Given the description of an element on the screen output the (x, y) to click on. 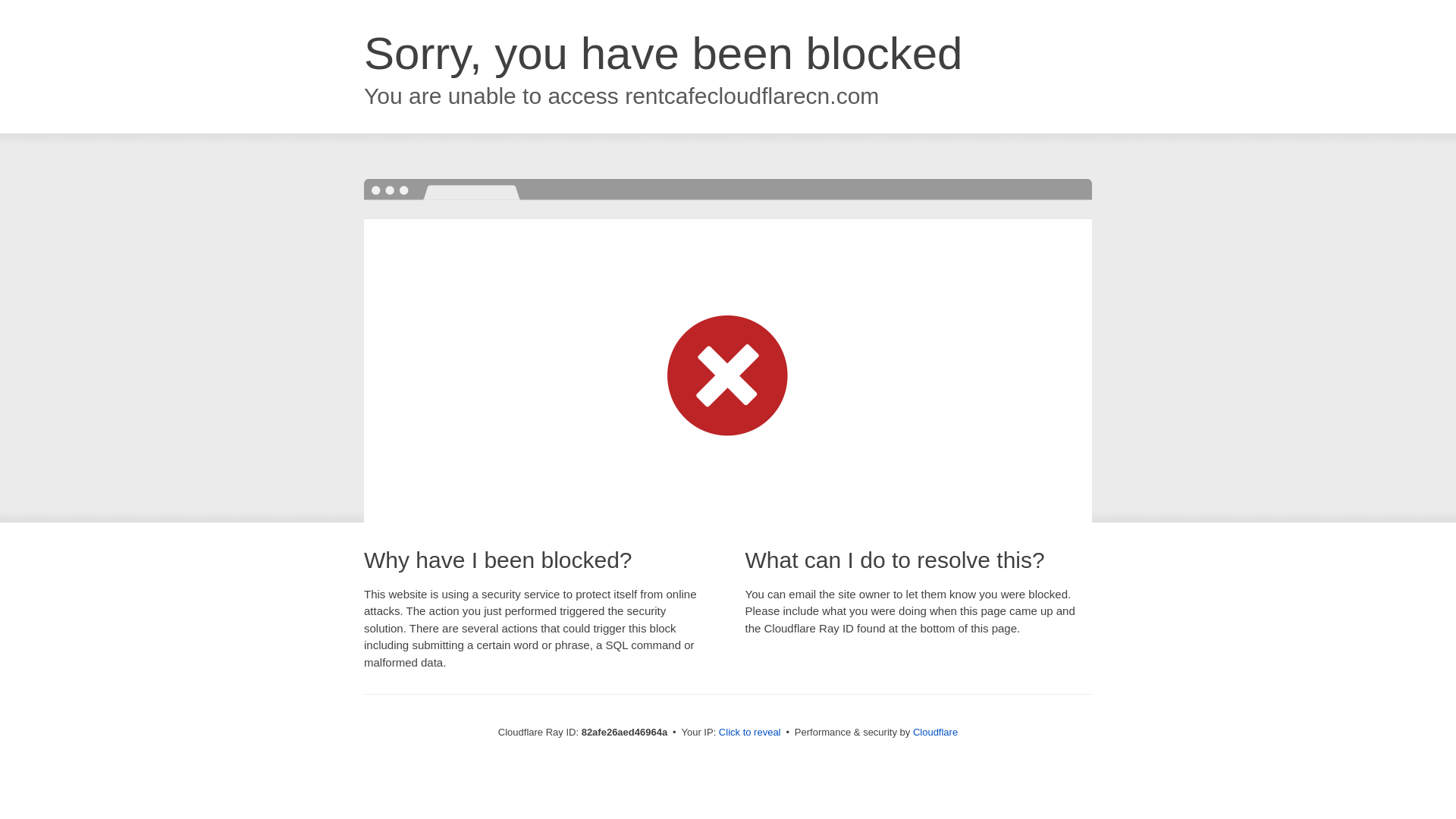
Click to reveal Element type: text (749, 732)
Cloudflare Element type: text (935, 731)
